Given the description of an element on the screen output the (x, y) to click on. 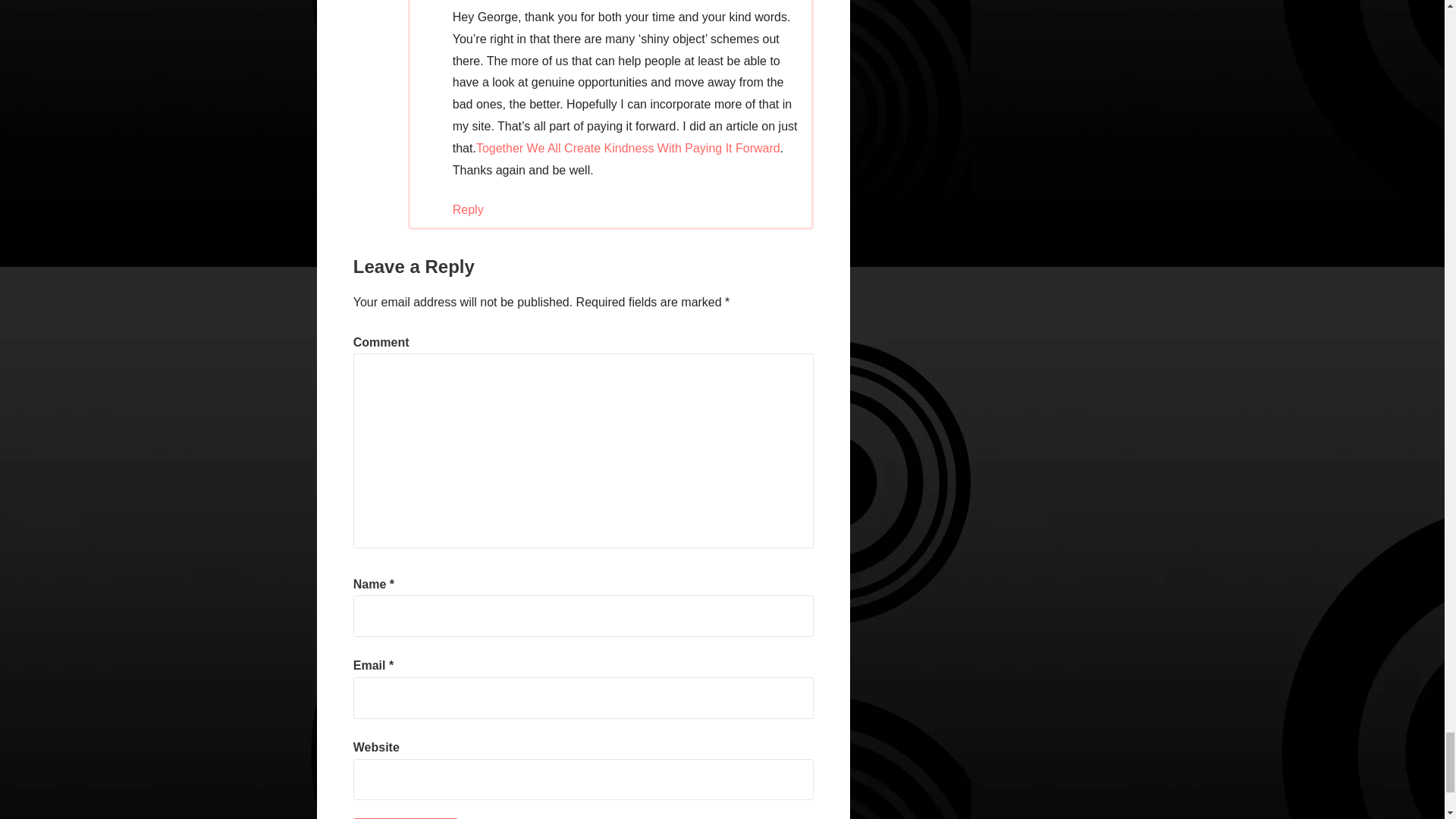
Together We All Create Kindness With Paying It Forward (628, 147)
